Given the description of an element on the screen output the (x, y) to click on. 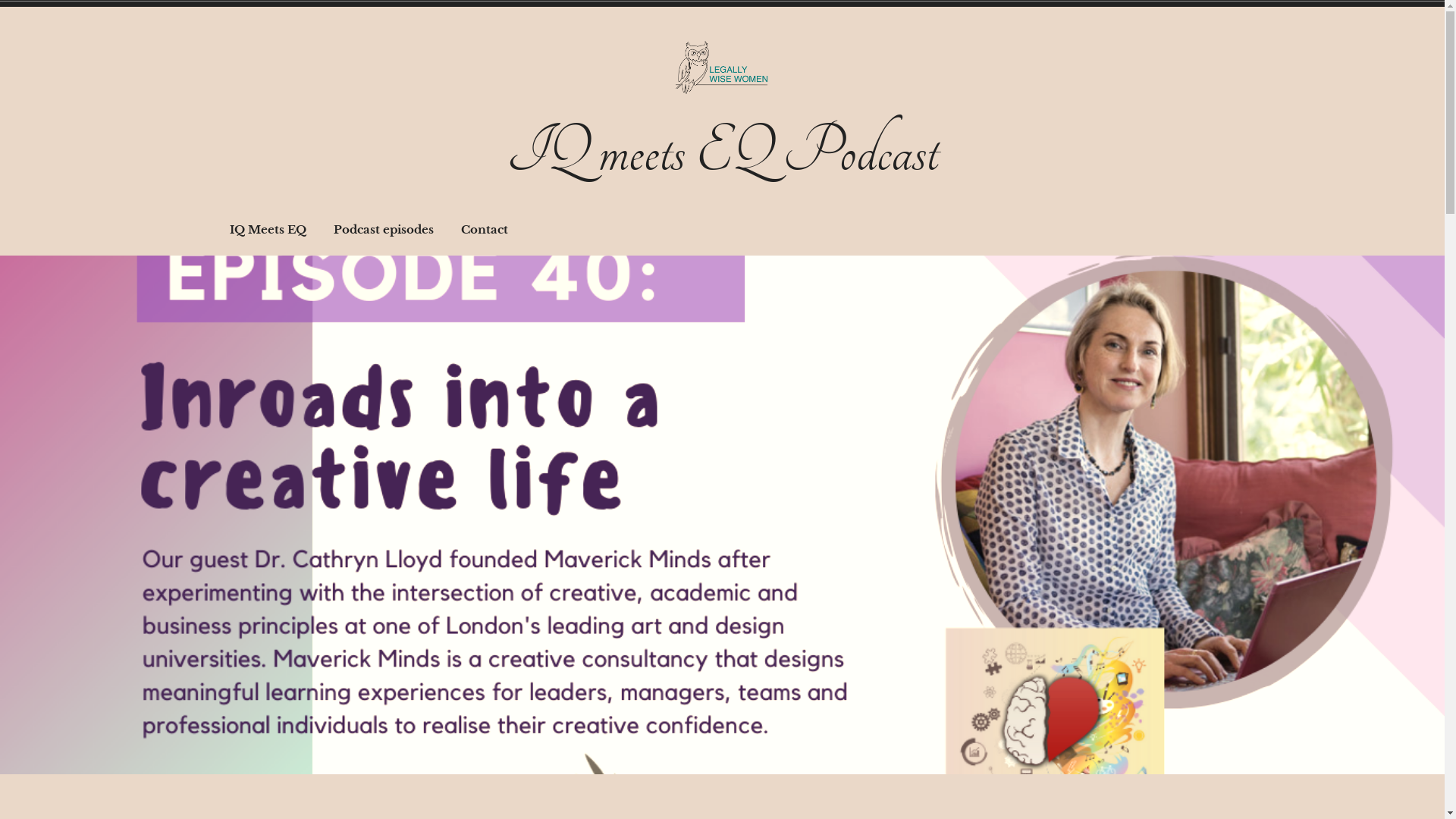
Podcast episodes Element type: text (382, 229)
IQ Meets EQ Element type: text (267, 229)
IQ meets EQ Podcast Element type: text (722, 152)
Contact Element type: text (483, 229)
